Given the description of an element on the screen output the (x, y) to click on. 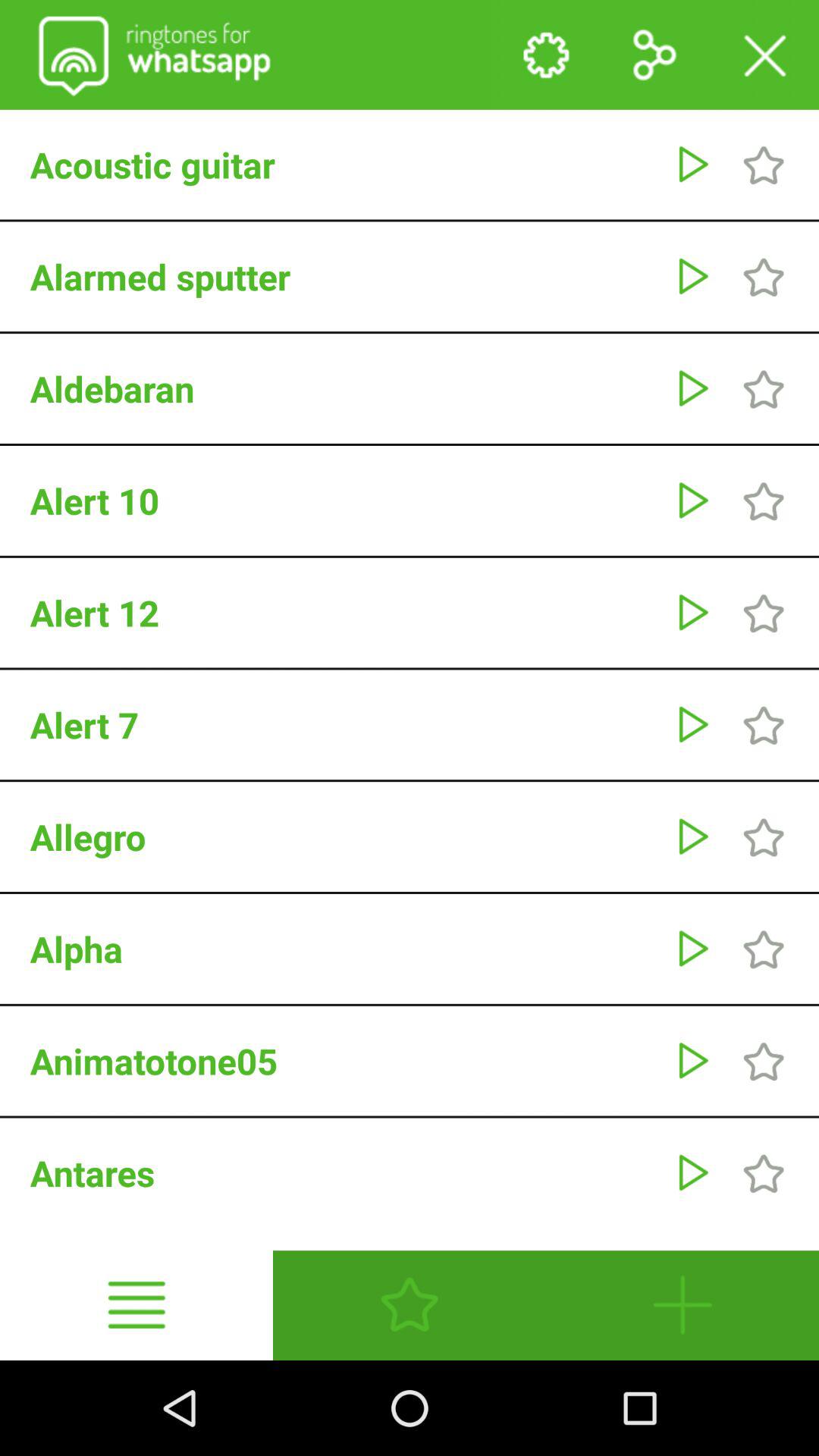
open the acoustic guitar app (344, 164)
